Given the description of an element on the screen output the (x, y) to click on. 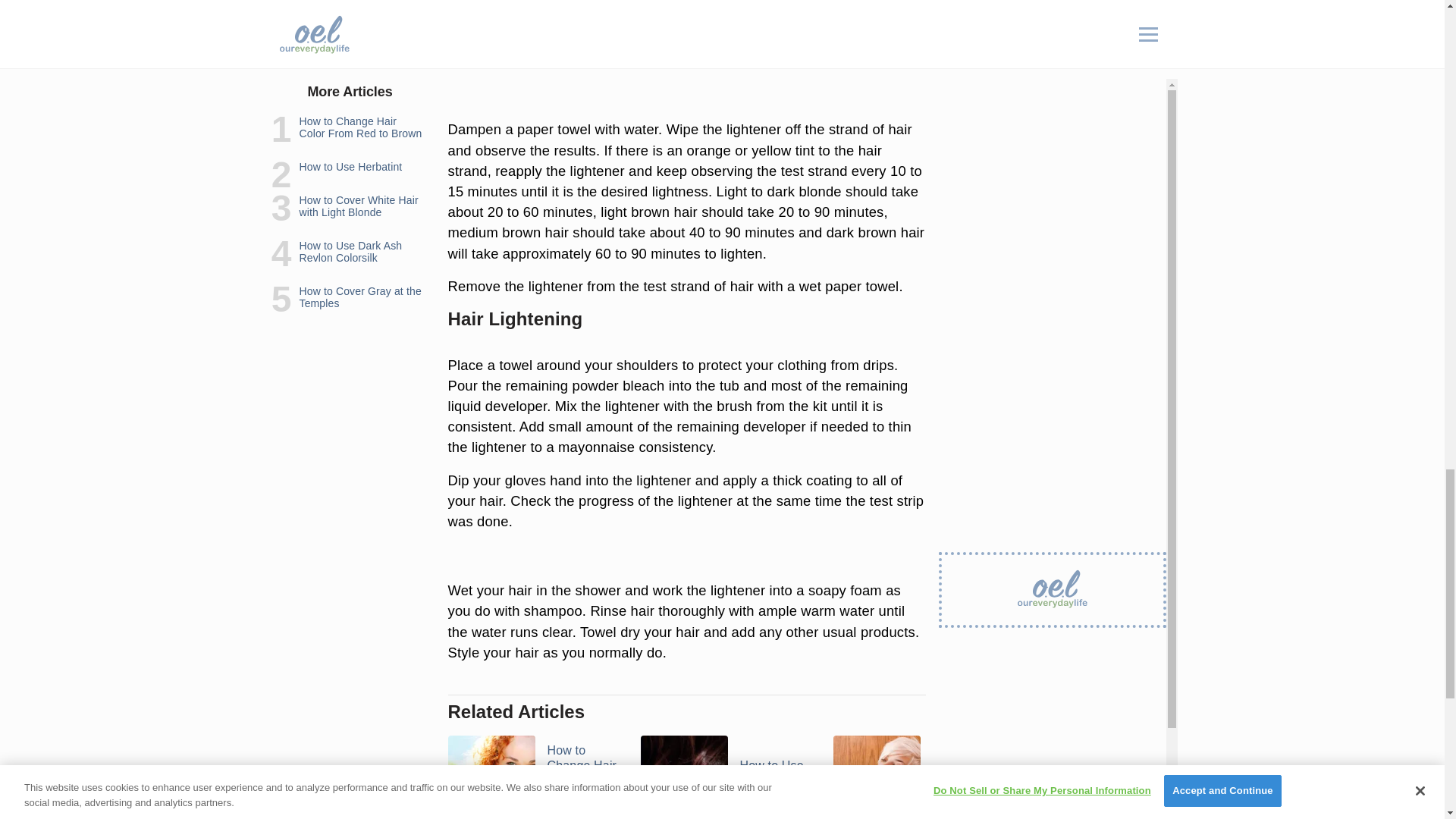
How to Change Hair Color From Red to ... (533, 773)
How to Use Herbatint (726, 773)
How to Use Dark Ash Revlon Colorsilk (1112, 773)
How to Cover White Hair with Light ... (919, 773)
How to Cover Gray at the Temples (1304, 773)
